Given the description of an element on the screen output the (x, y) to click on. 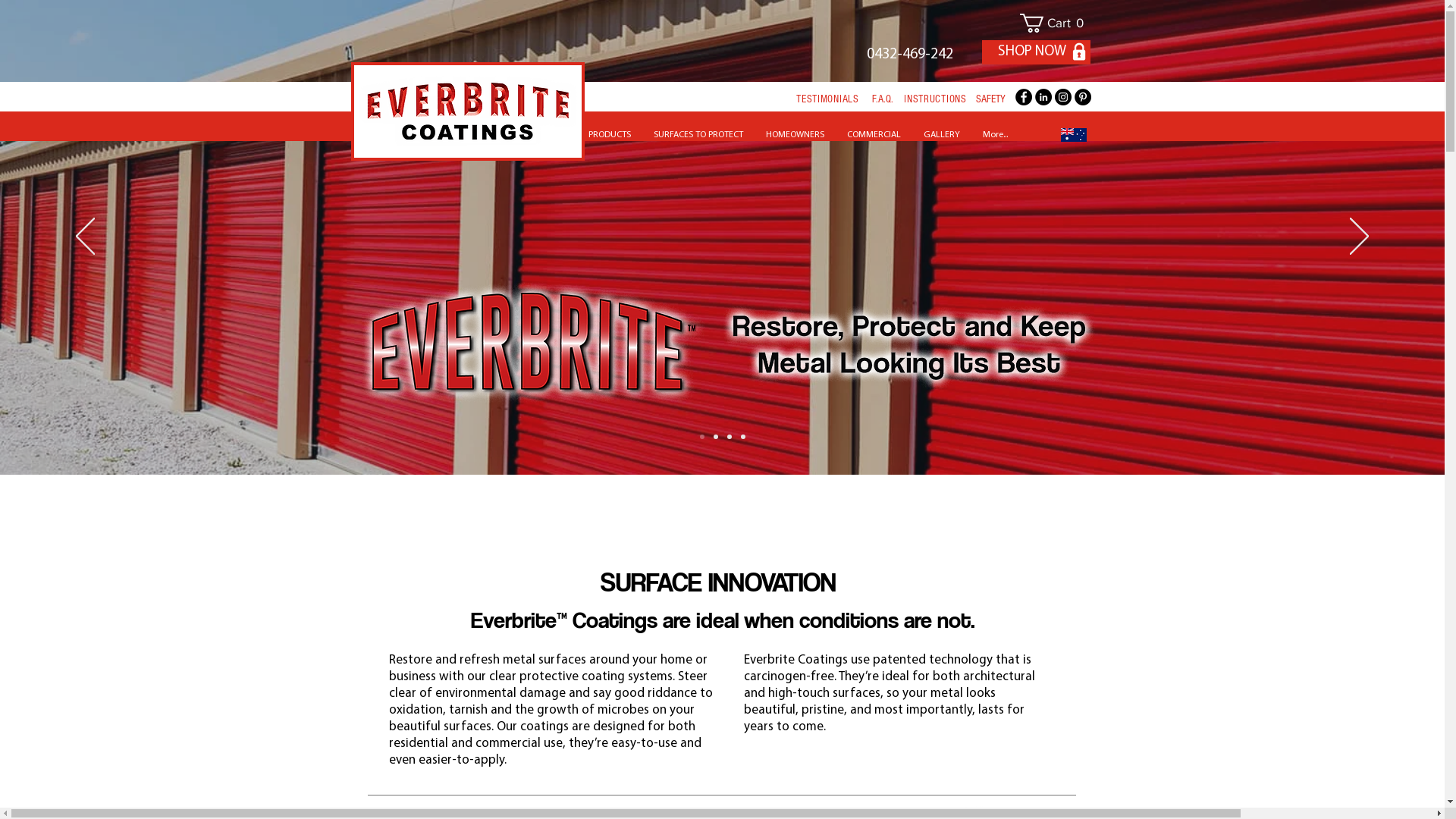
SAFETY Element type: text (990, 98)
EVERBRITE COATINGS 2021 Element type: hover (466, 110)
SHOP NOW Element type: text (1035, 52)
Everbrite Element type: hover (532, 342)
INSTRUCTIONS Element type: text (934, 98)
Cart
0 Element type: text (1054, 22)
HOMEOWNERS Element type: text (793, 134)
Secure Buy Now Element type: hover (1077, 51)
F.A.Q. Element type: text (882, 98)
GALLERY Element type: text (940, 134)
PRODUCTS Element type: text (608, 134)
TESTIMONIALS Element type: text (827, 98)
COMMERCIAL Element type: text (873, 134)
United States Flag Element type: hover (1072, 134)
Restore and Protect Metal Element type: hover (907, 347)
SURFACES TO PROTECT Element type: text (697, 134)
0432-469-242 Element type: text (909, 51)
